Given the description of an element on the screen output the (x, y) to click on. 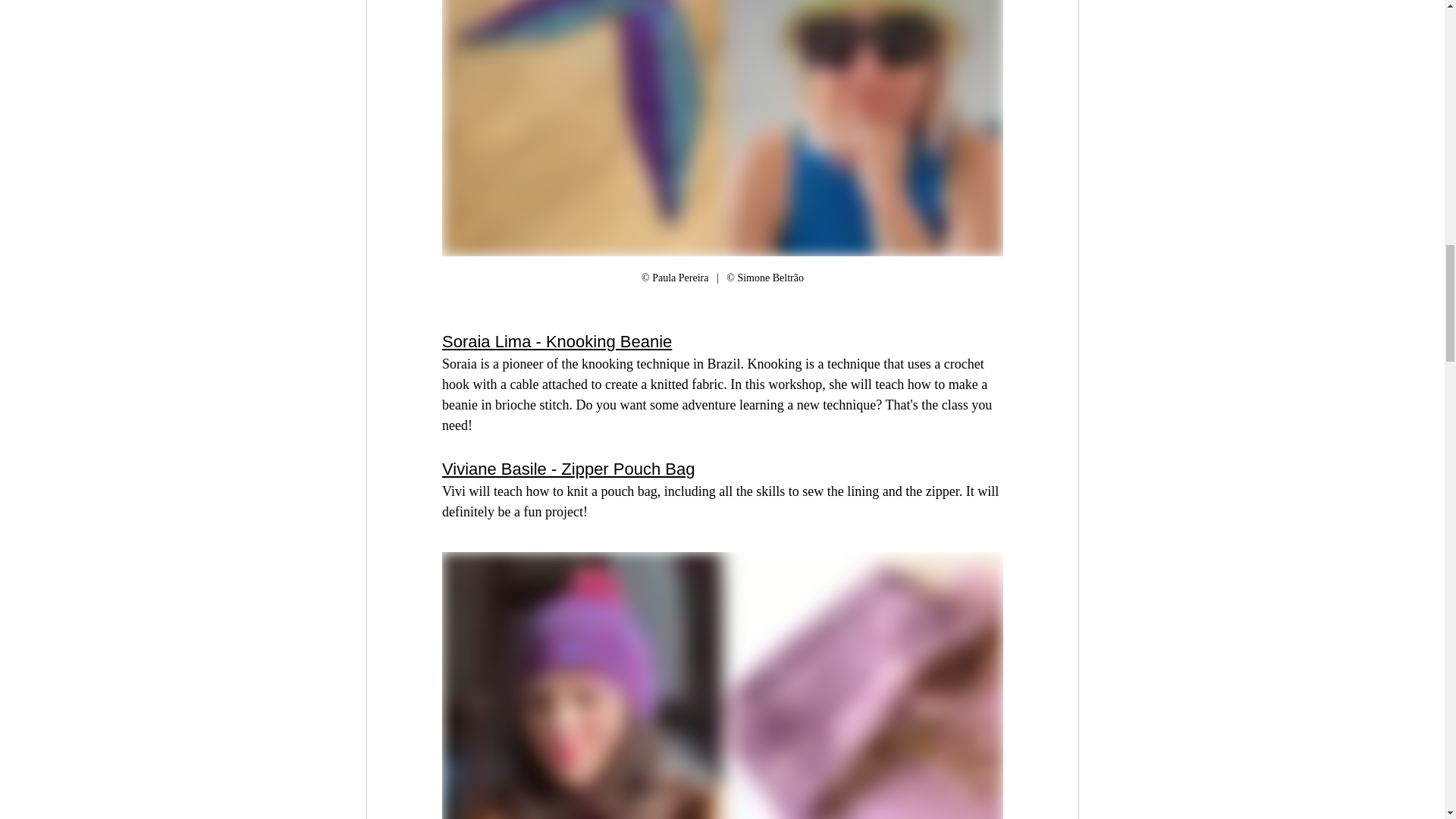
Soraia Lima - Knooking Beanie (556, 341)
